Given the description of an element on the screen output the (x, y) to click on. 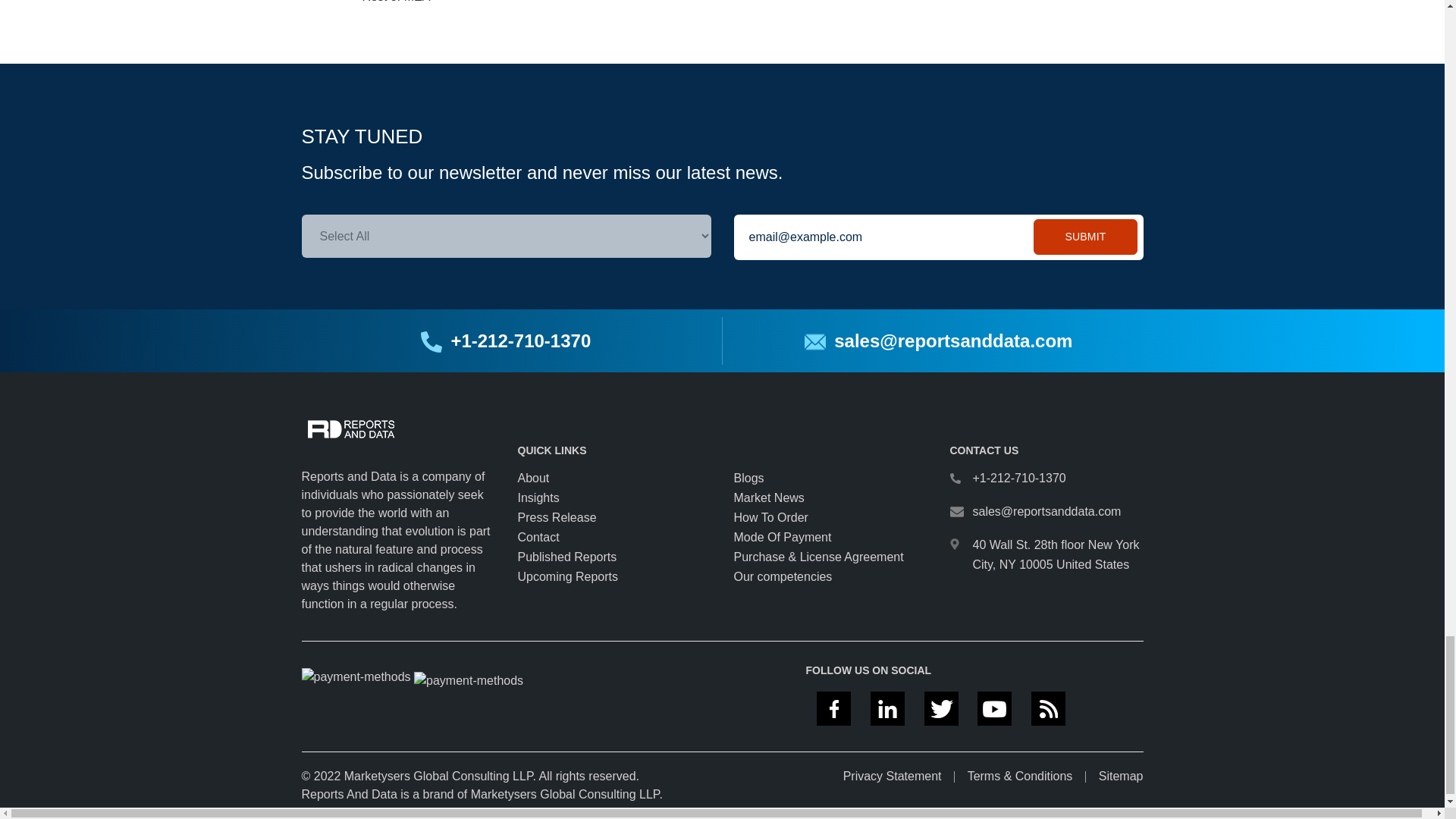
Submit (1085, 236)
